Given the description of an element on the screen output the (x, y) to click on. 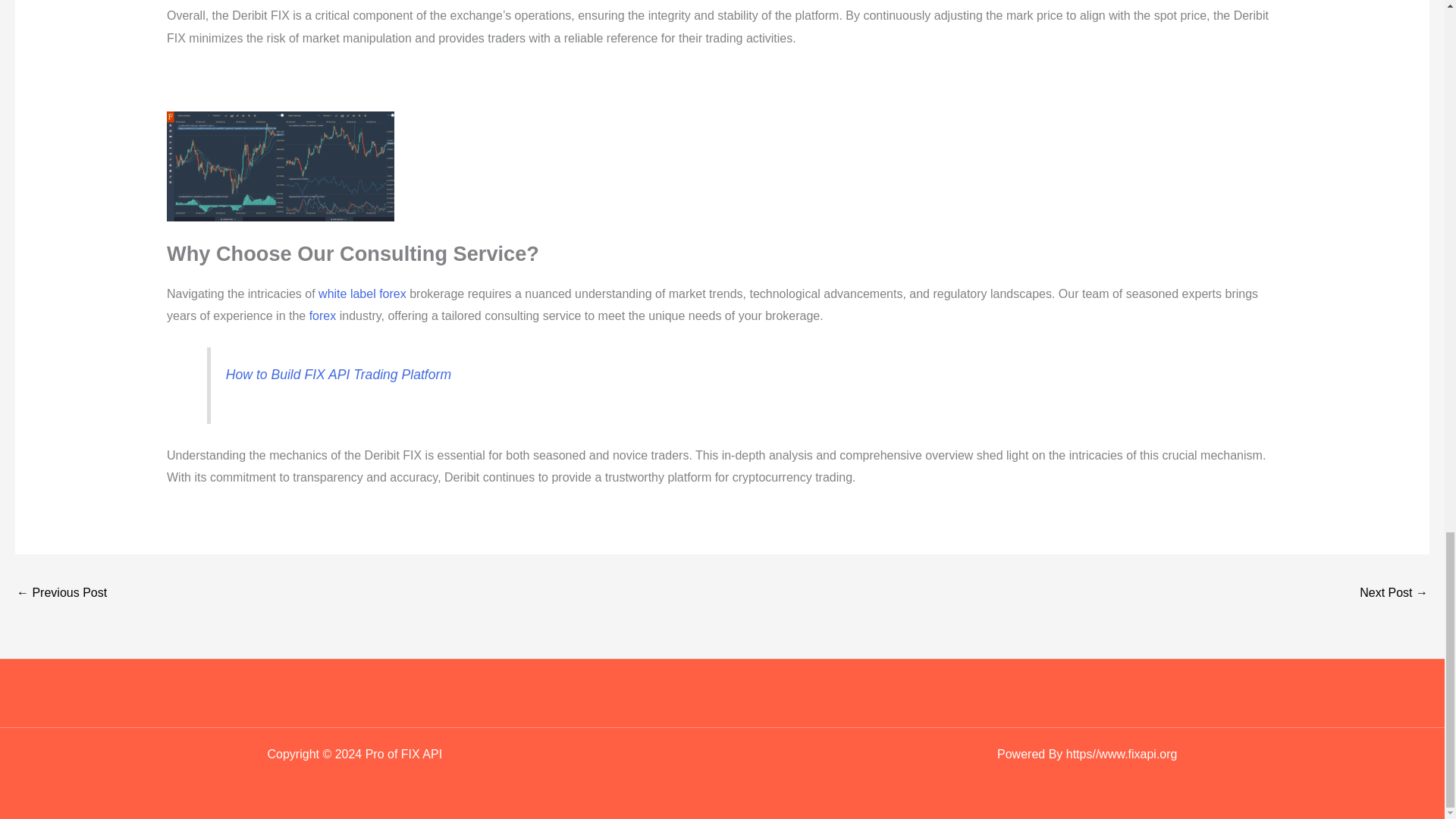
Exploring the Darwinex FIX API: A Comprehensive Overview (1393, 593)
white label (346, 293)
forex (322, 315)
forex (392, 293)
